Given the description of an element on the screen output the (x, y) to click on. 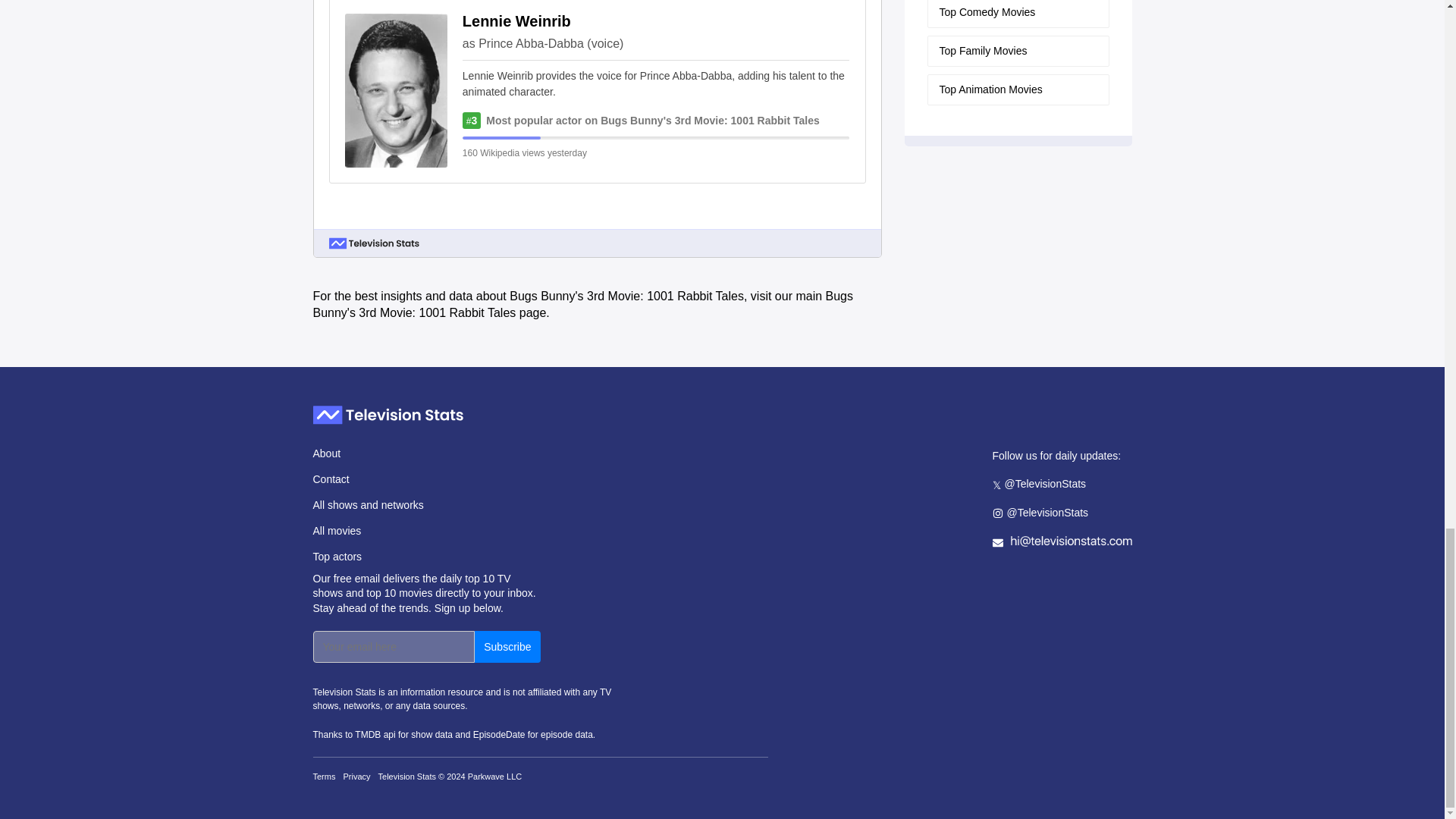
About (426, 453)
Subscribe (507, 646)
Top Animation Movies (1017, 89)
Top Comedy Movies (1017, 13)
Contact (426, 478)
All shows and networks (426, 504)
Top Family Movies (1017, 51)
Top actors (426, 556)
All movies (426, 530)
